Given the description of an element on the screen output the (x, y) to click on. 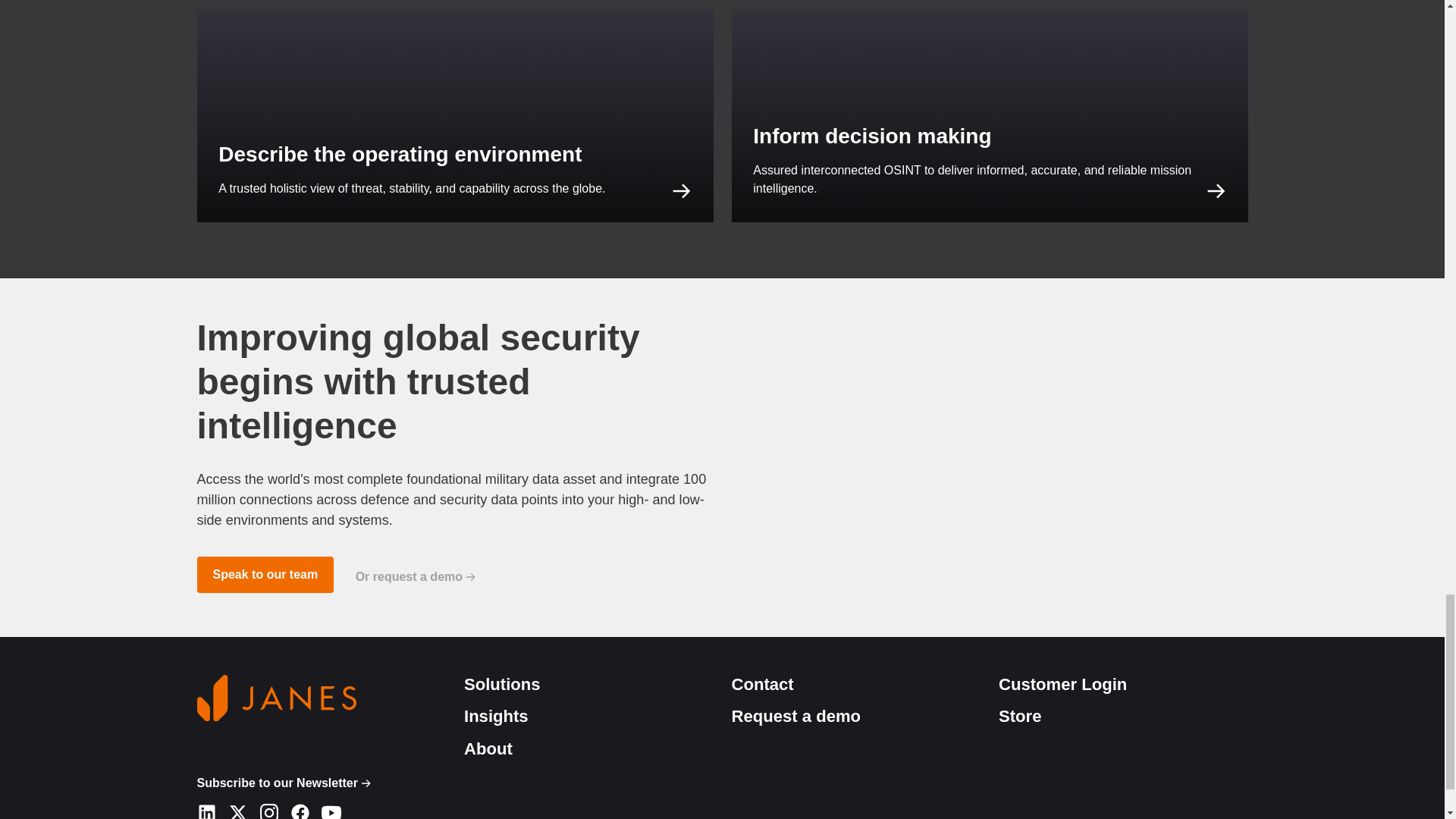
YouTube (330, 808)
Instagram (269, 808)
LinkedIn (206, 808)
Facebook (298, 808)
